Given the description of an element on the screen output the (x, y) to click on. 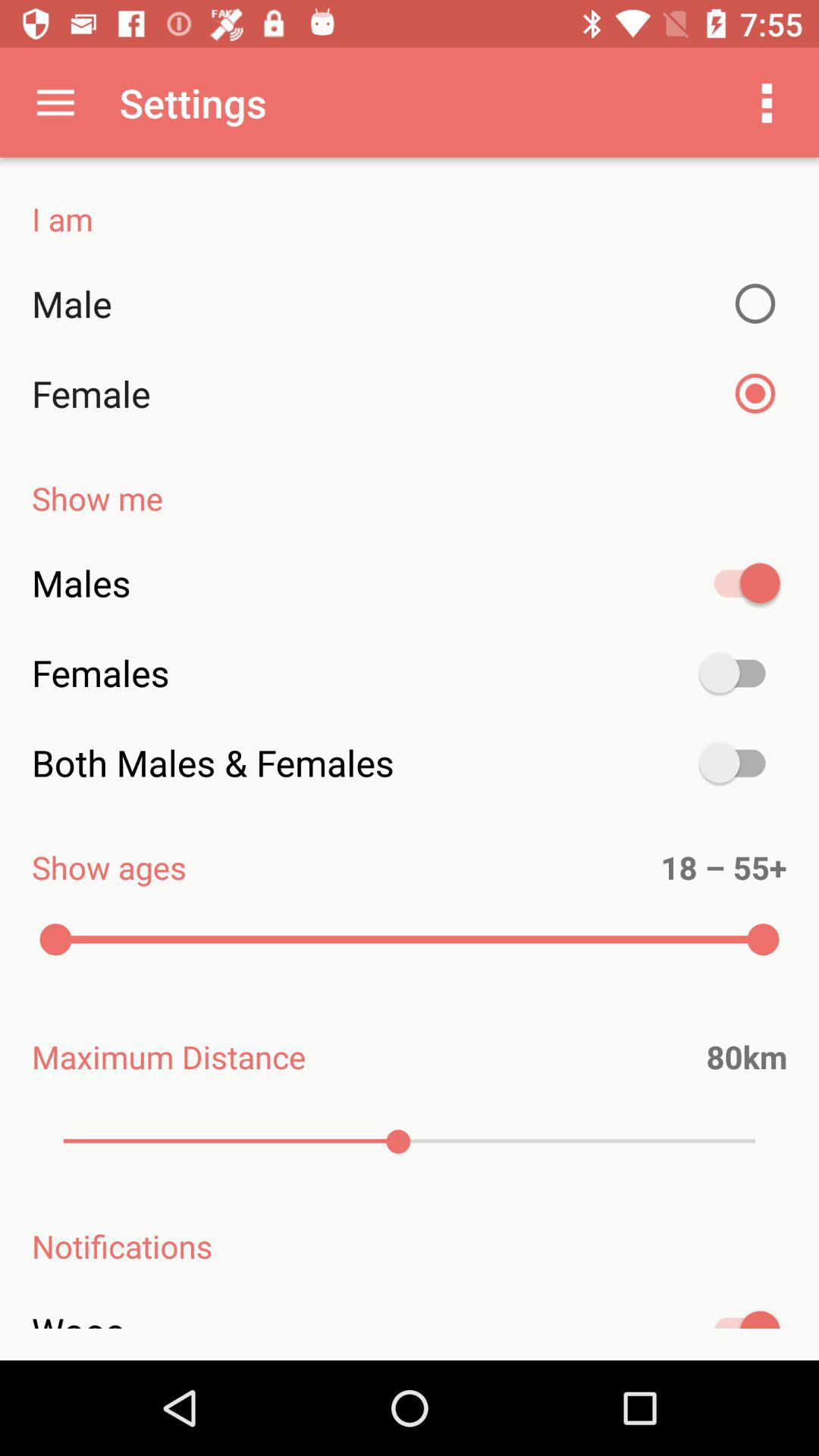
more options (767, 102)
